Given the description of an element on the screen output the (x, y) to click on. 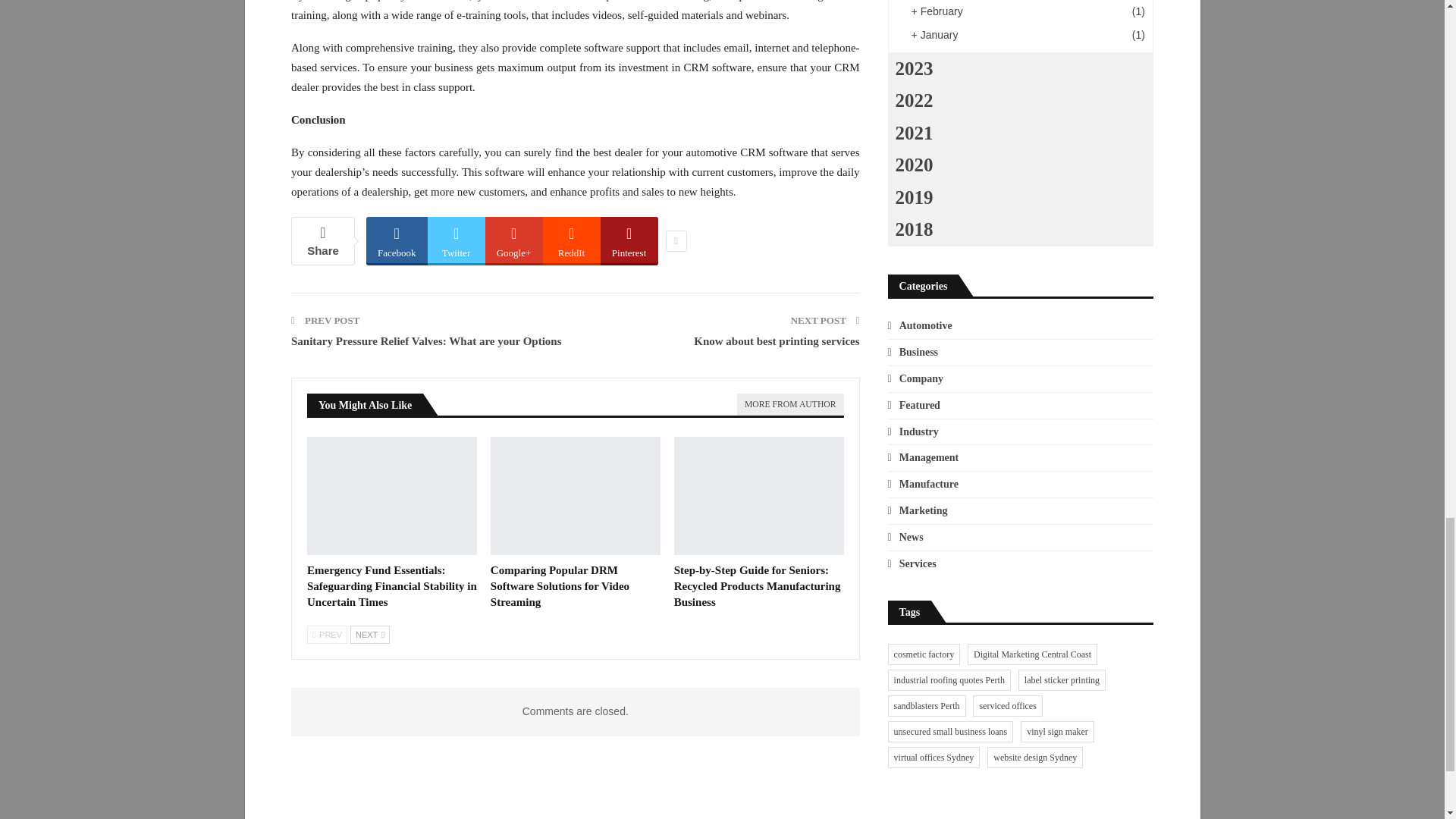
Facebook (397, 239)
Twitter (456, 239)
MORE FROM AUTHOR (788, 404)
ReddIt (571, 239)
Know about best printing services (776, 340)
Previous (327, 634)
Next (370, 634)
Pinterest (628, 239)
You Might Also Like (365, 404)
Comparing Popular DRM Software Solutions for Video Streaming (575, 496)
Comparing Popular DRM Software Solutions for Video Streaming (559, 586)
Sanitary Pressure Relief Valves: What are your Options (426, 340)
